Given the description of an element on the screen output the (x, y) to click on. 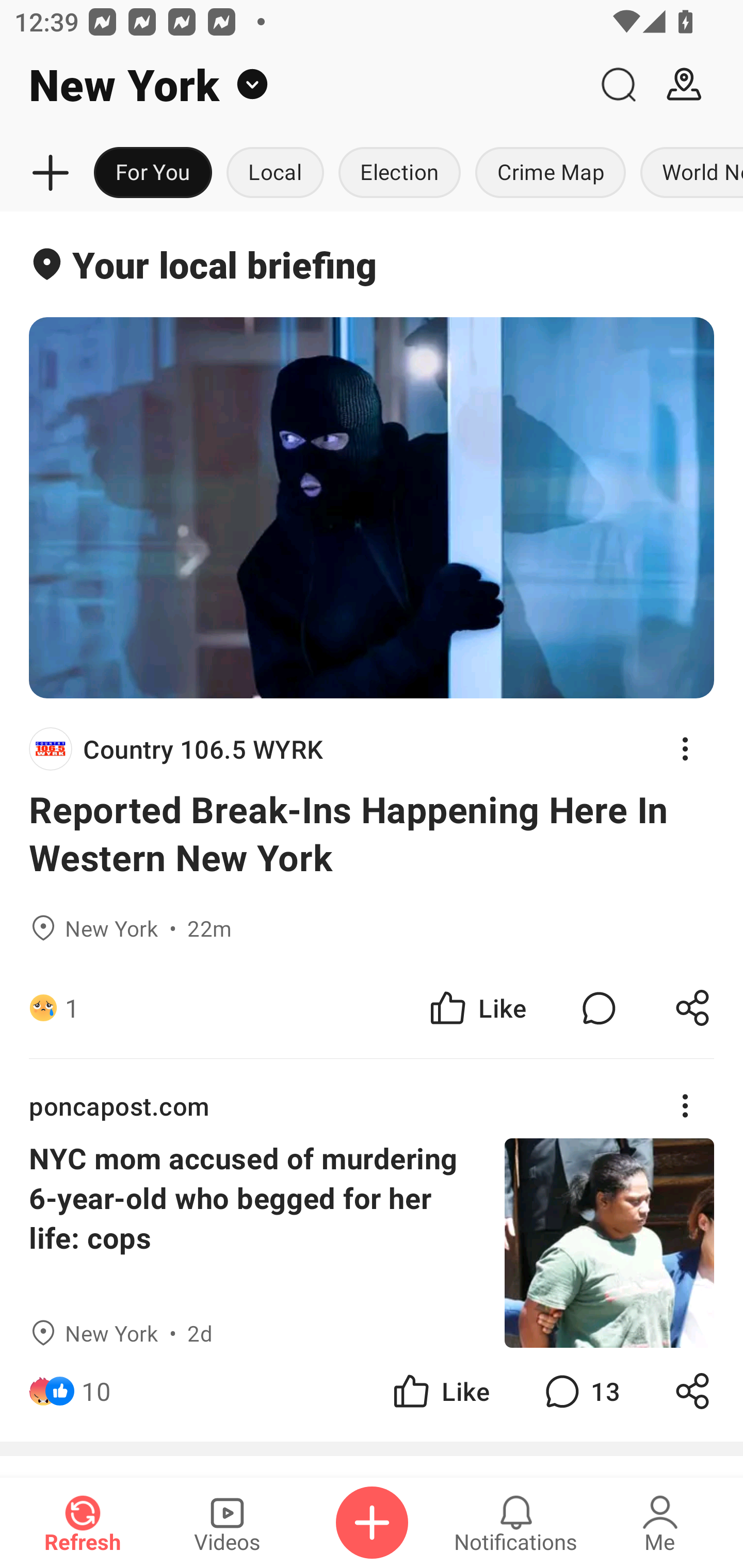
New York (292, 84)
For You (152, 172)
Local (275, 172)
Election (399, 172)
Crime Map (550, 172)
World News (688, 172)
1 (72, 1007)
Like (476, 1007)
10 (95, 1391)
Like (439, 1391)
13 (579, 1391)
Videos (227, 1522)
Notifications (516, 1522)
Me (659, 1522)
